Given the description of an element on the screen output the (x, y) to click on. 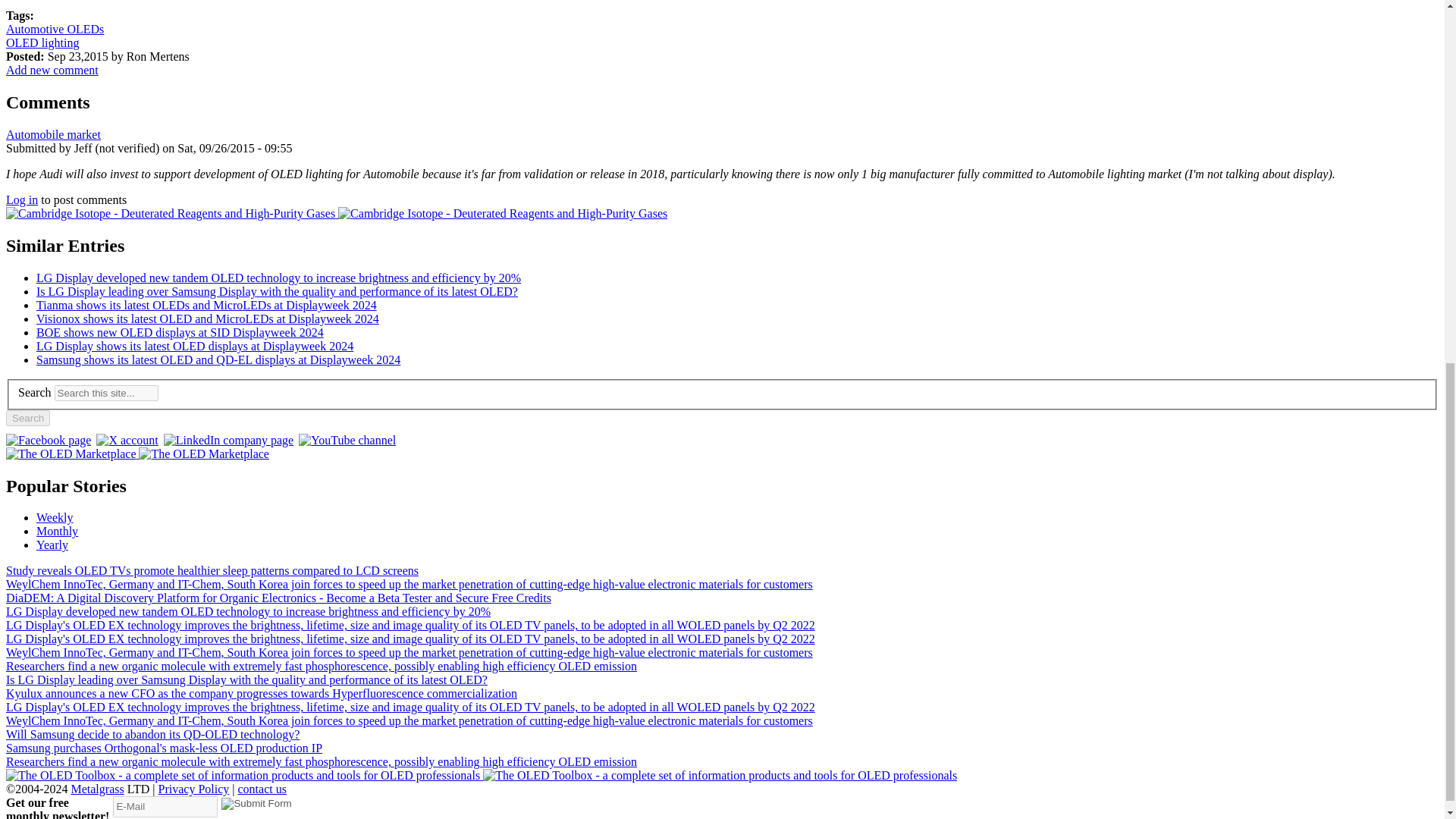
Add new comment (52, 69)
BOE shows new OLED displays at SID Displayweek 2024 (179, 332)
Automobile market (52, 133)
Log in (21, 199)
Automotive OLEDs (54, 29)
OLED lighting (41, 42)
